Given the description of an element on the screen output the (x, y) to click on. 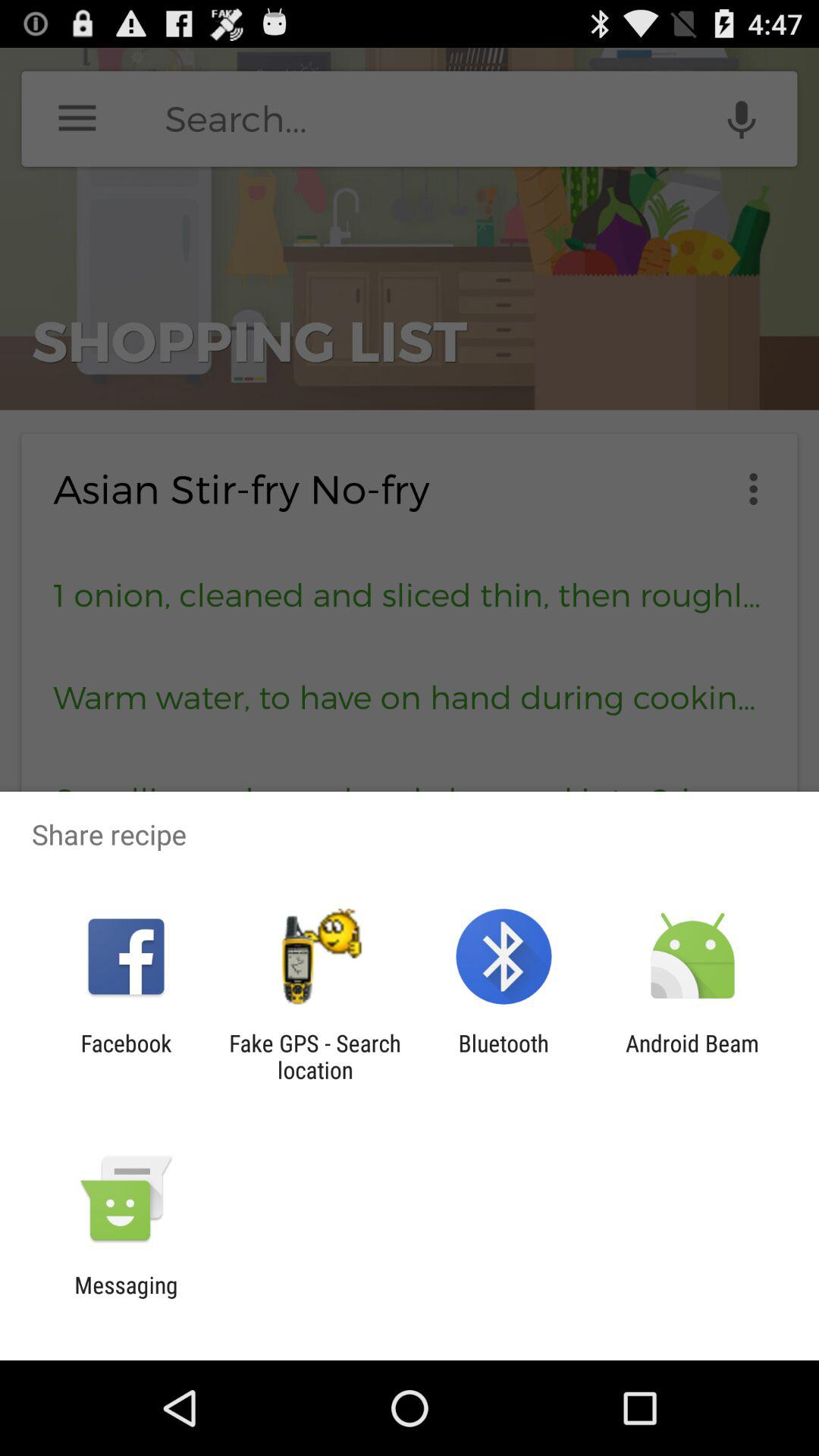
choose the item next to the facebook item (314, 1056)
